Given the description of an element on the screen output the (x, y) to click on. 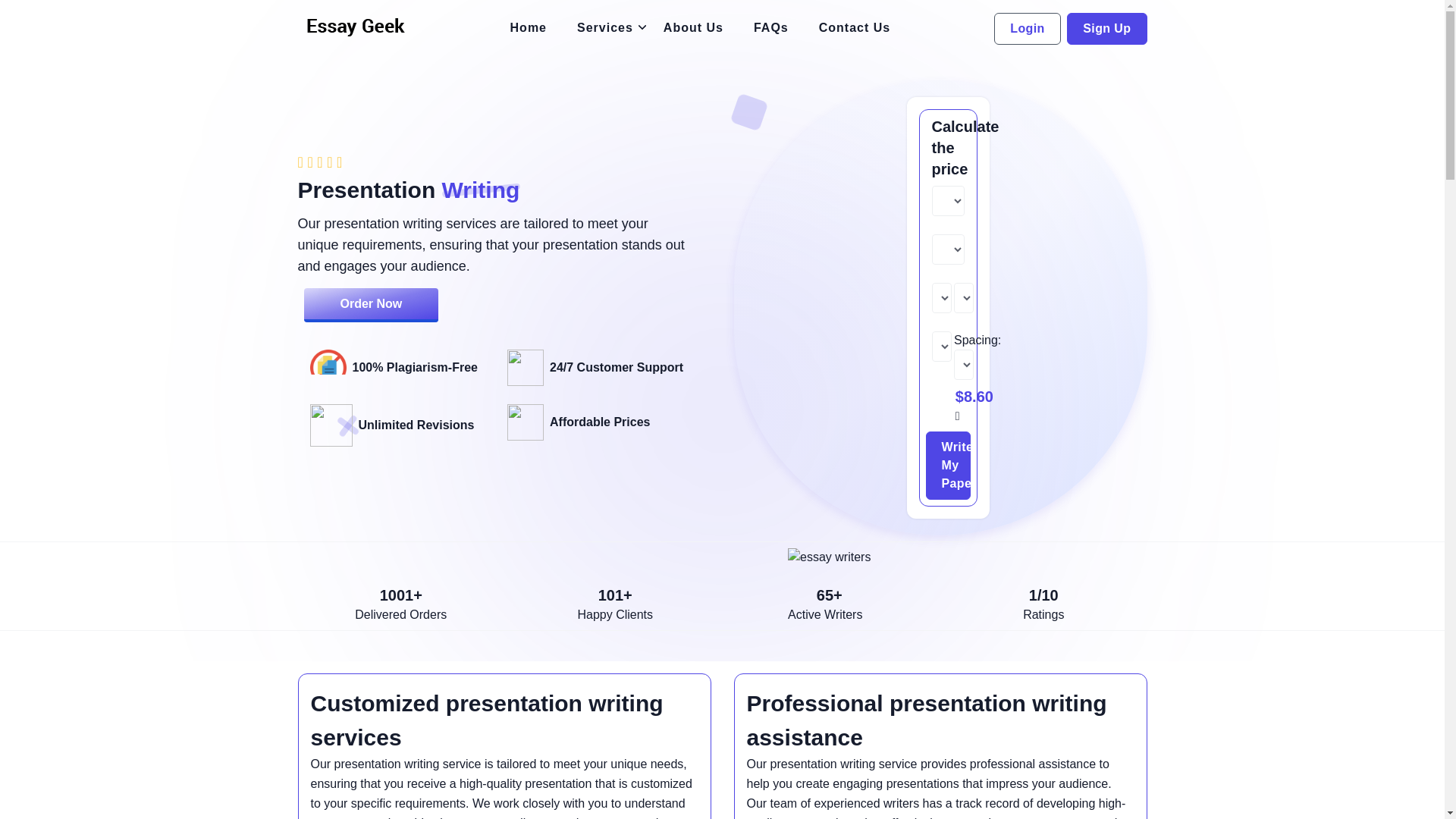
Order Now (370, 305)
Login (1027, 29)
FAQs (770, 28)
Services (605, 28)
Contact Us (854, 28)
Sign Up (1107, 29)
Home (528, 28)
About Us (693, 28)
